Given the description of an element on the screen output the (x, y) to click on. 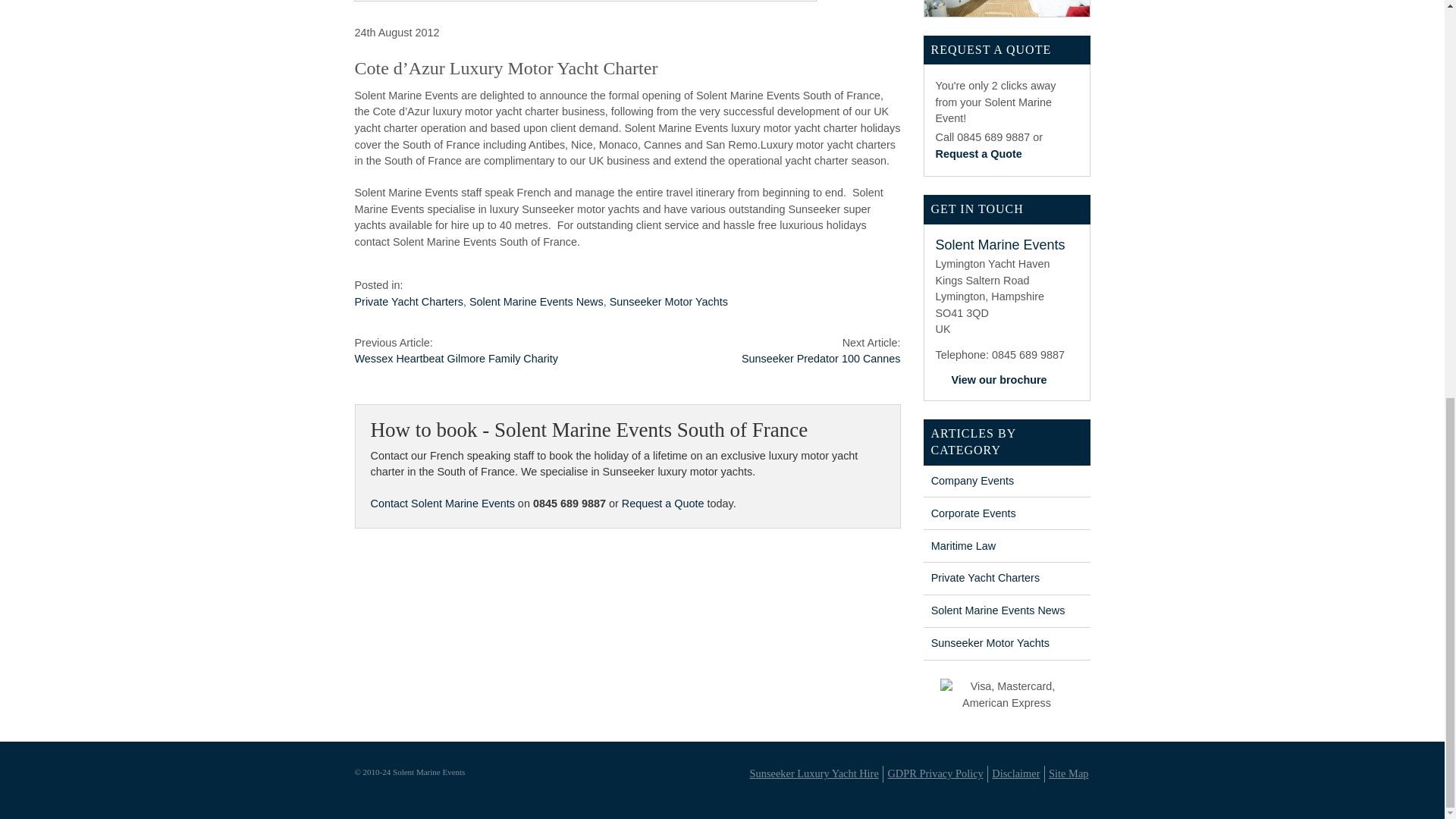
Company Events (972, 480)
Request a Quote (979, 153)
Maritime Law (963, 545)
Sunseeker Motor Yachts (669, 301)
GALLERY (1006, 8)
Private Yacht Charters (985, 577)
Solent Marine Events Yacht Charter Brochure (998, 379)
Disclaimer (1015, 773)
Gallery (1006, 8)
Corporate Events (973, 512)
